Given the description of an element on the screen output the (x, y) to click on. 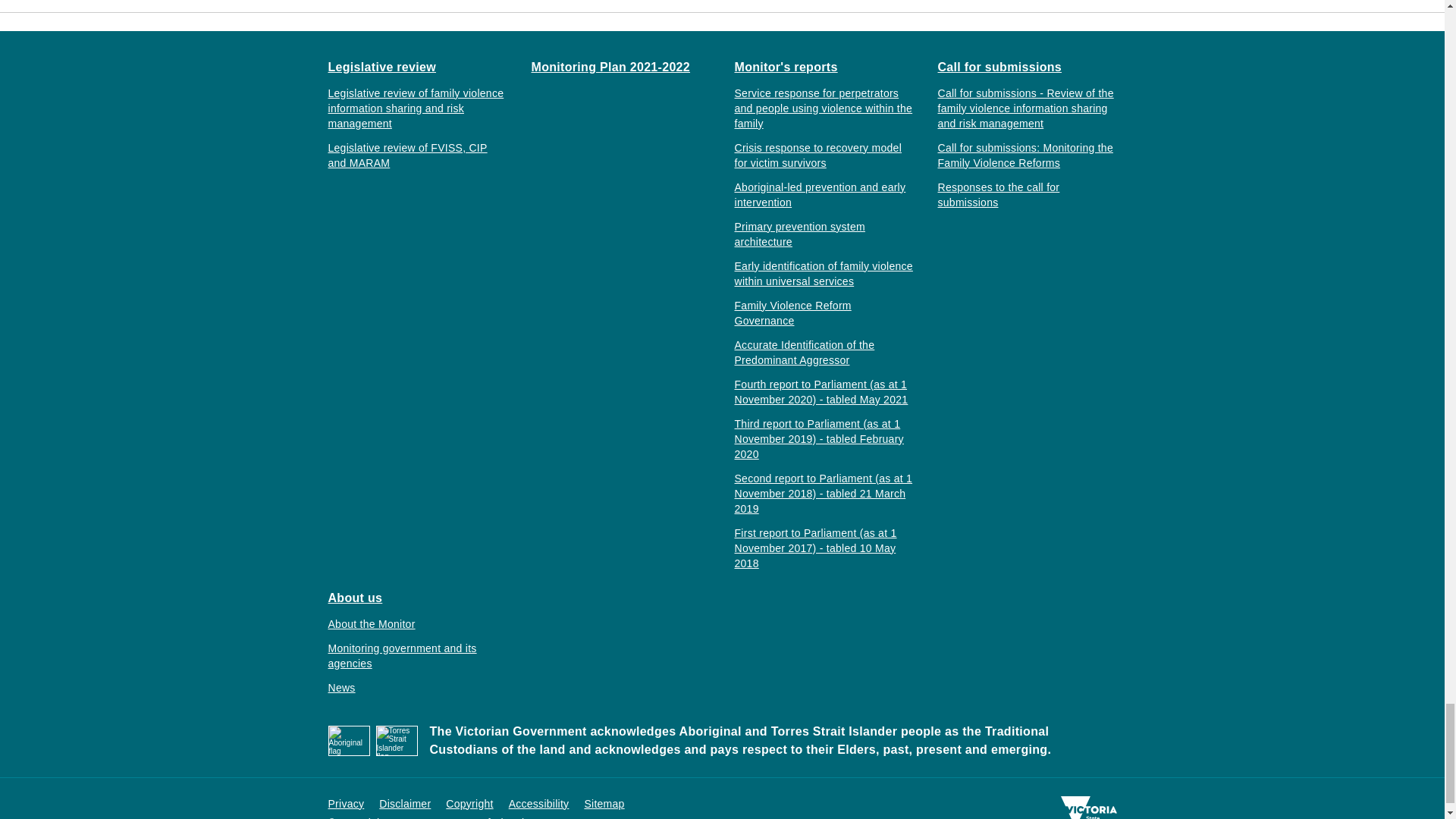
Crisis response to recovery model for victim survivors (822, 154)
Aboriginal-led prevention and early intervention (822, 194)
Monitor's reports (785, 66)
Primary prevention system architecture (822, 233)
Monitoring Plan 2021-2022 (610, 66)
Legislative review of FVISS, CIP and MARAM (416, 154)
Family Violence Reform Governance (822, 312)
